Given the description of an element on the screen output the (x, y) to click on. 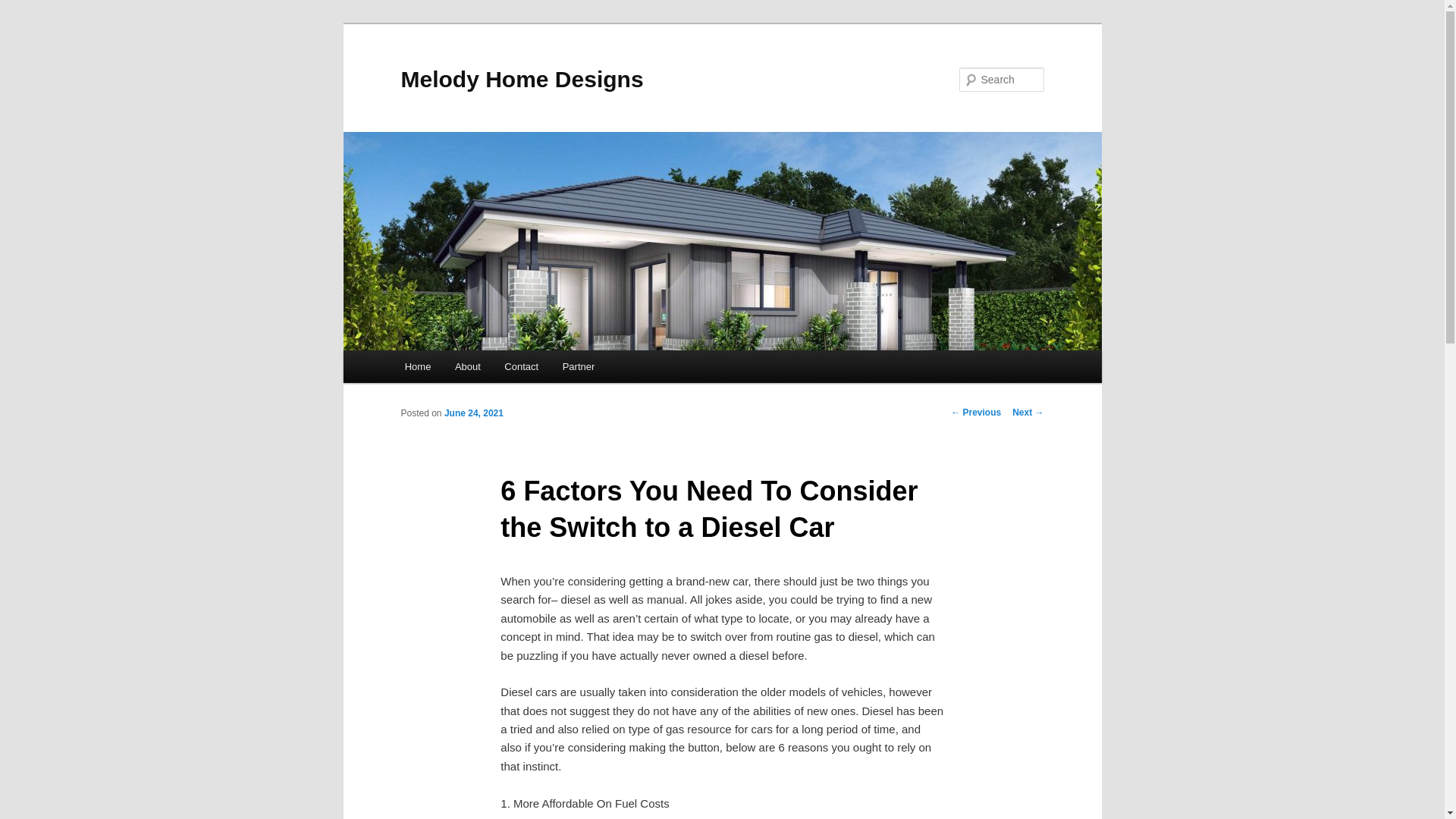
June 24, 2021 Element type: text (473, 412)
Contact Element type: text (521, 366)
Home Element type: text (417, 366)
Partner Element type: text (578, 366)
Melody Home Designs Element type: text (521, 78)
Skip to primary content Element type: text (22, 22)
About Element type: text (467, 366)
Search Element type: text (24, 8)
